Given the description of an element on the screen output the (x, y) to click on. 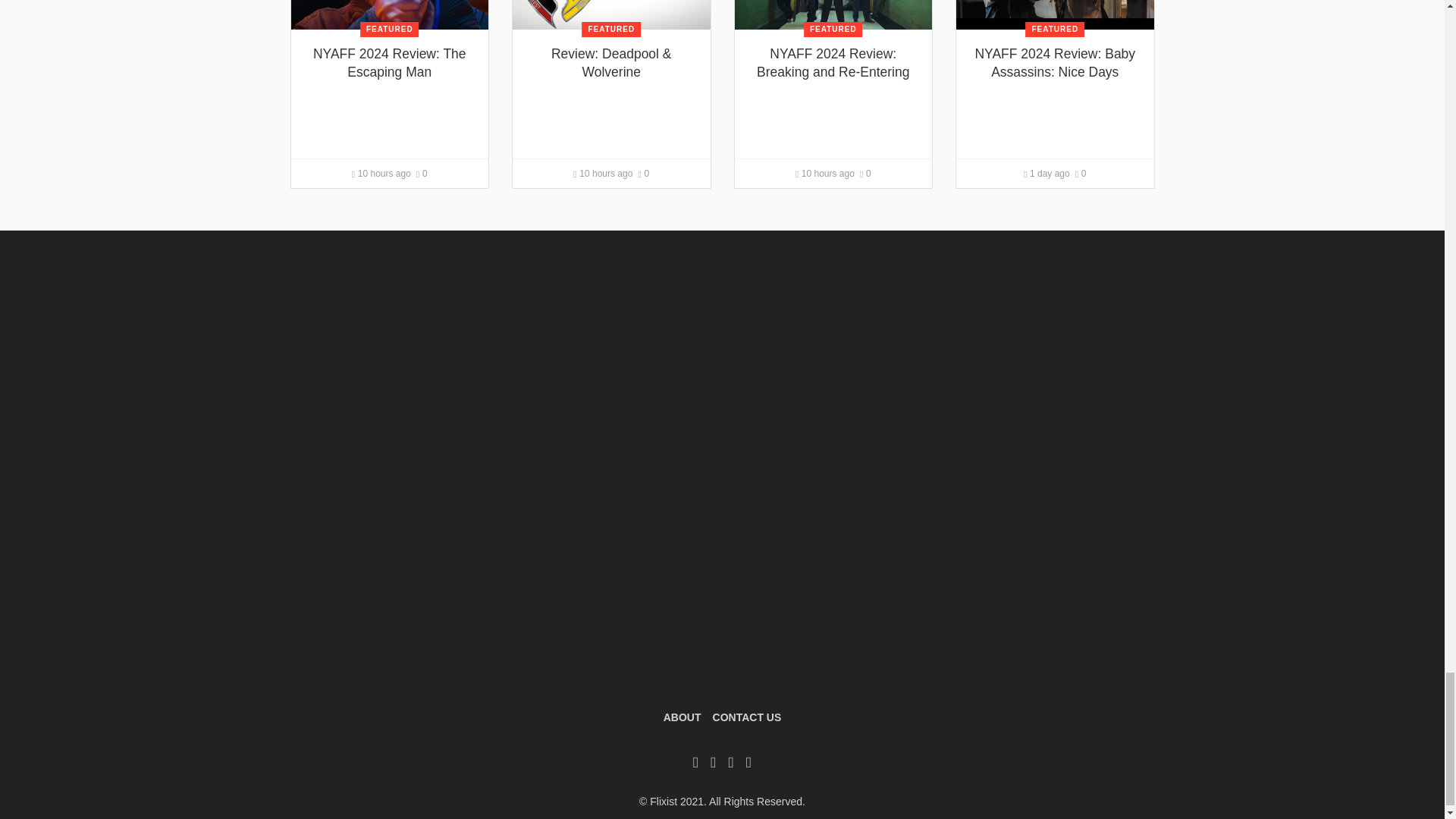
July 26, 2024 at 12:00 pm (381, 173)
